Given the description of an element on the screen output the (x, y) to click on. 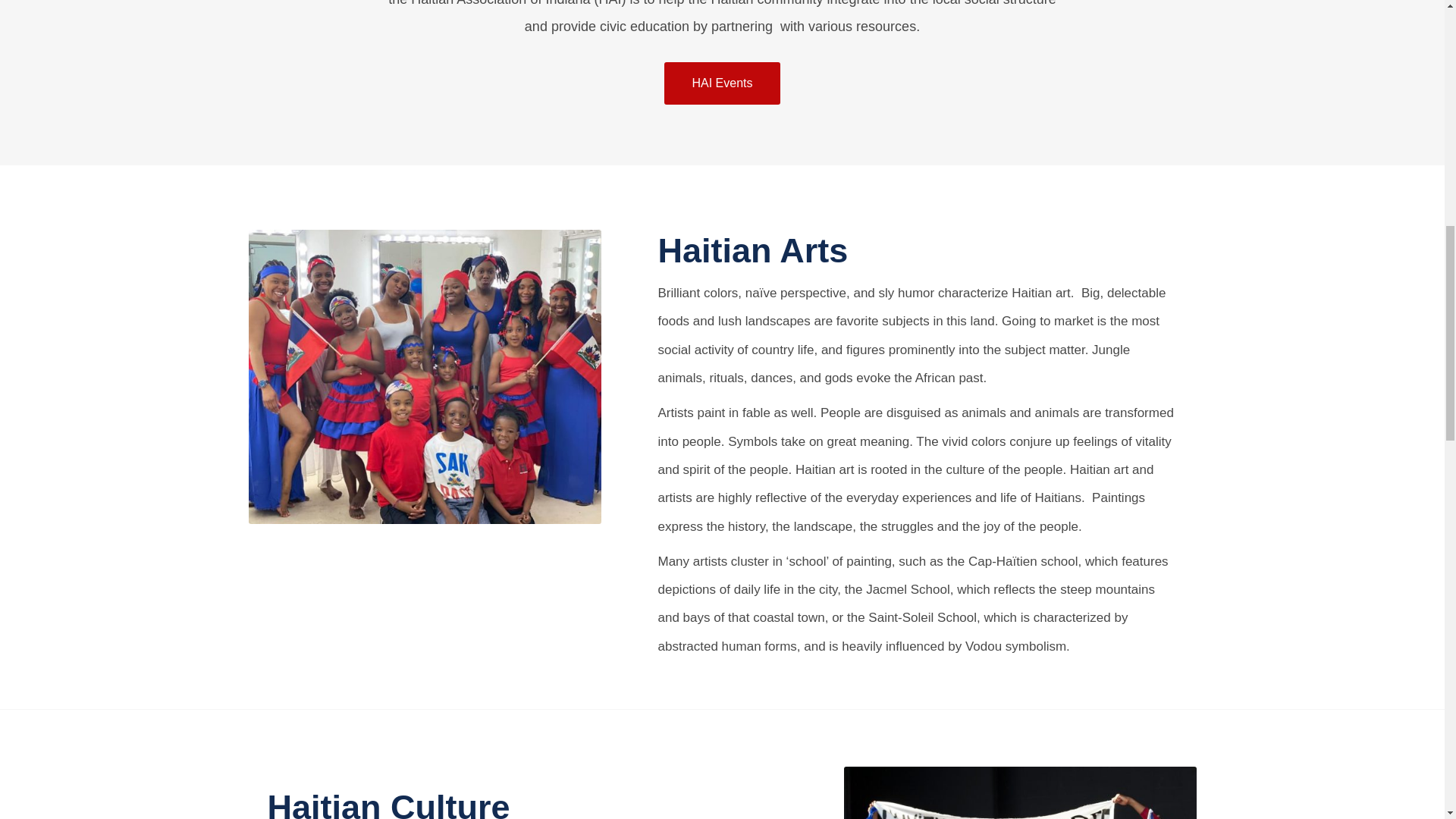
HAI Events (720, 83)
